Given the description of an element on the screen output the (x, y) to click on. 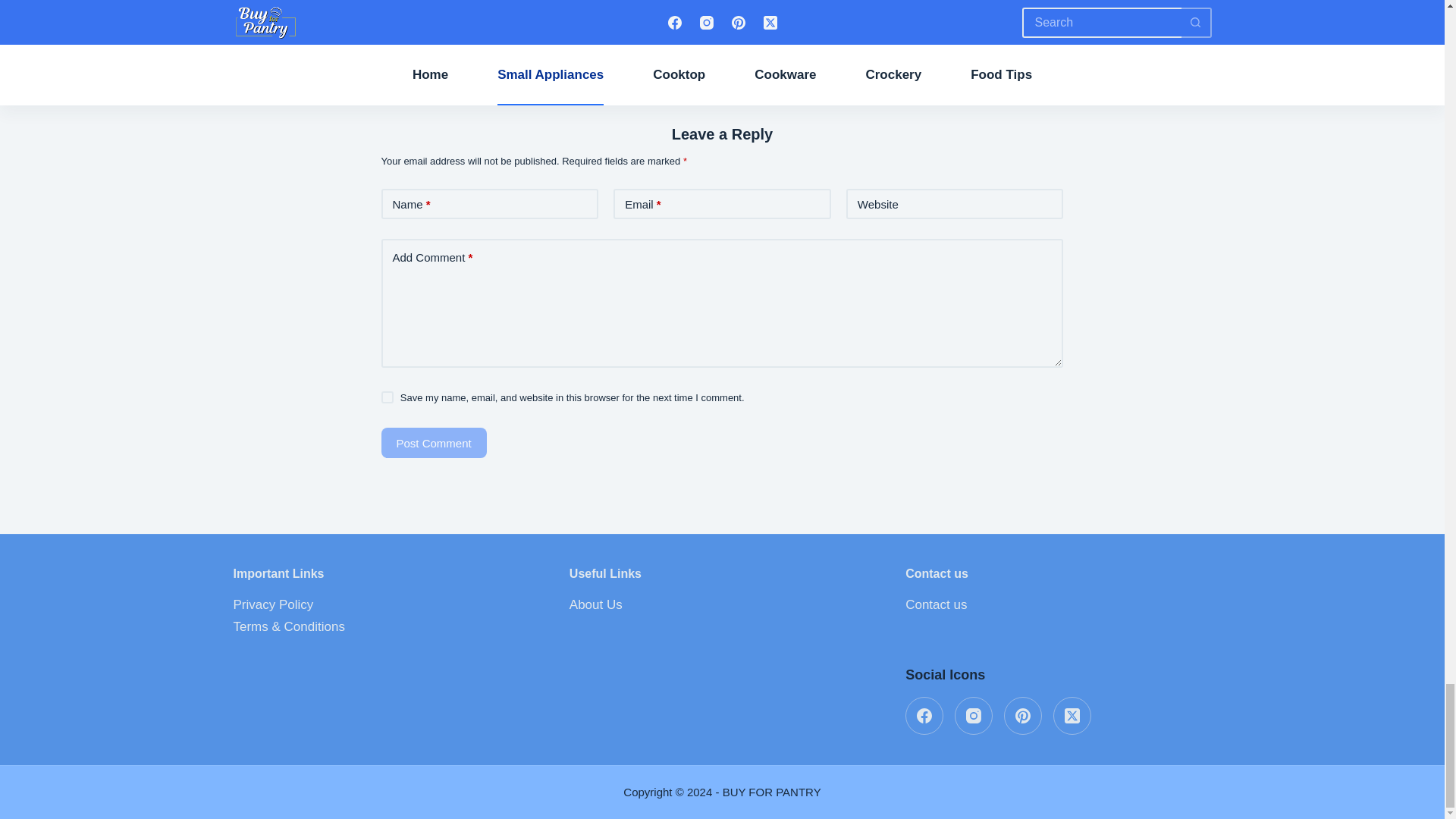
yes (386, 397)
